Given the description of an element on the screen output the (x, y) to click on. 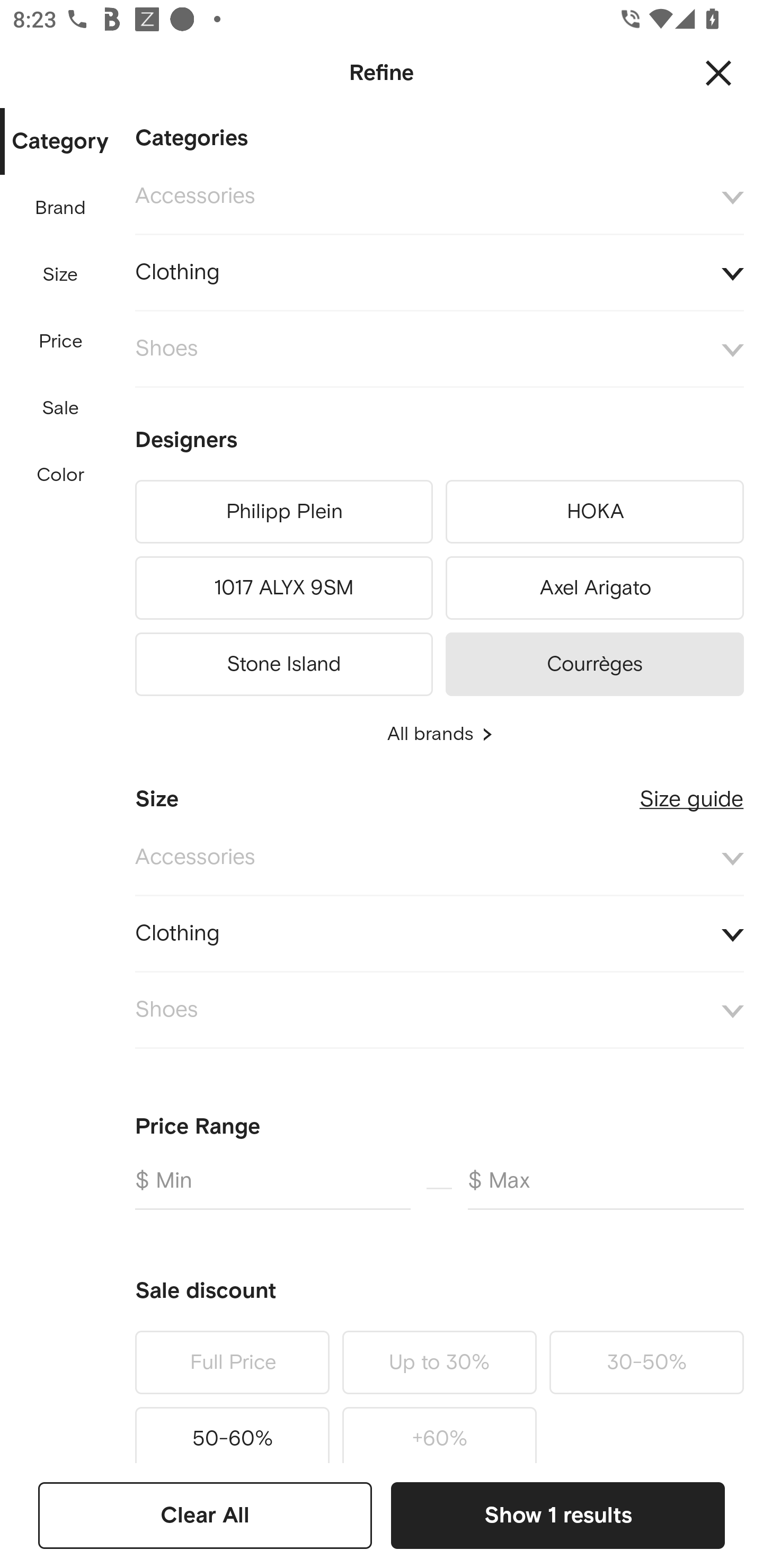
Category (60, 141)
Accessories (439, 196)
Brand (60, 208)
Clothing (439, 272)
Size (60, 274)
Price (60, 342)
Shoes (439, 348)
Sale (60, 408)
Color (60, 475)
Philipp Plein (283, 511)
HOKA (594, 511)
1017 ALYX 9SM (283, 587)
Axel Arigato (594, 587)
Stone Island (283, 660)
Courrèges (594, 660)
All brands (439, 734)
Size guide (691, 792)
Accessories (439, 857)
Clothing (439, 933)
Shoes (439, 1010)
$ Min (272, 1187)
$ Max (605, 1187)
Full Price (232, 1362)
Up to 30% (439, 1362)
30-50% (646, 1362)
50-60% (232, 1431)
+60% (439, 1431)
Clear All (205, 1515)
Show 1 results (557, 1515)
